Given the description of an element on the screen output the (x, y) to click on. 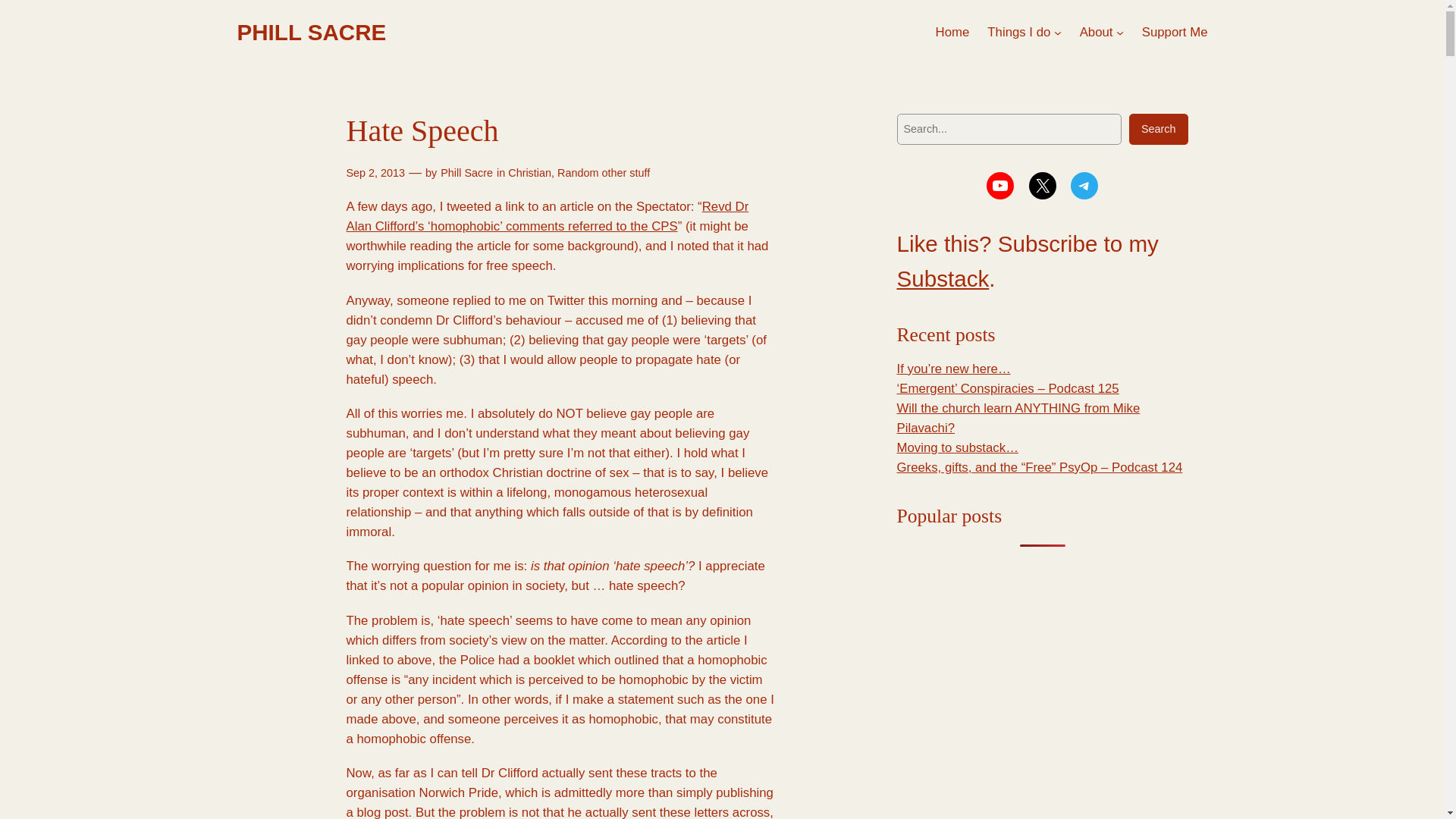
Sep 2, 2013 (375, 173)
Home (952, 32)
PHILL SACRE (310, 32)
Support Me (1174, 32)
Christian (529, 173)
Phill Sacre (467, 173)
Random other stuff (603, 173)
About (1096, 32)
Things I do (1018, 32)
